Given the description of an element on the screen output the (x, y) to click on. 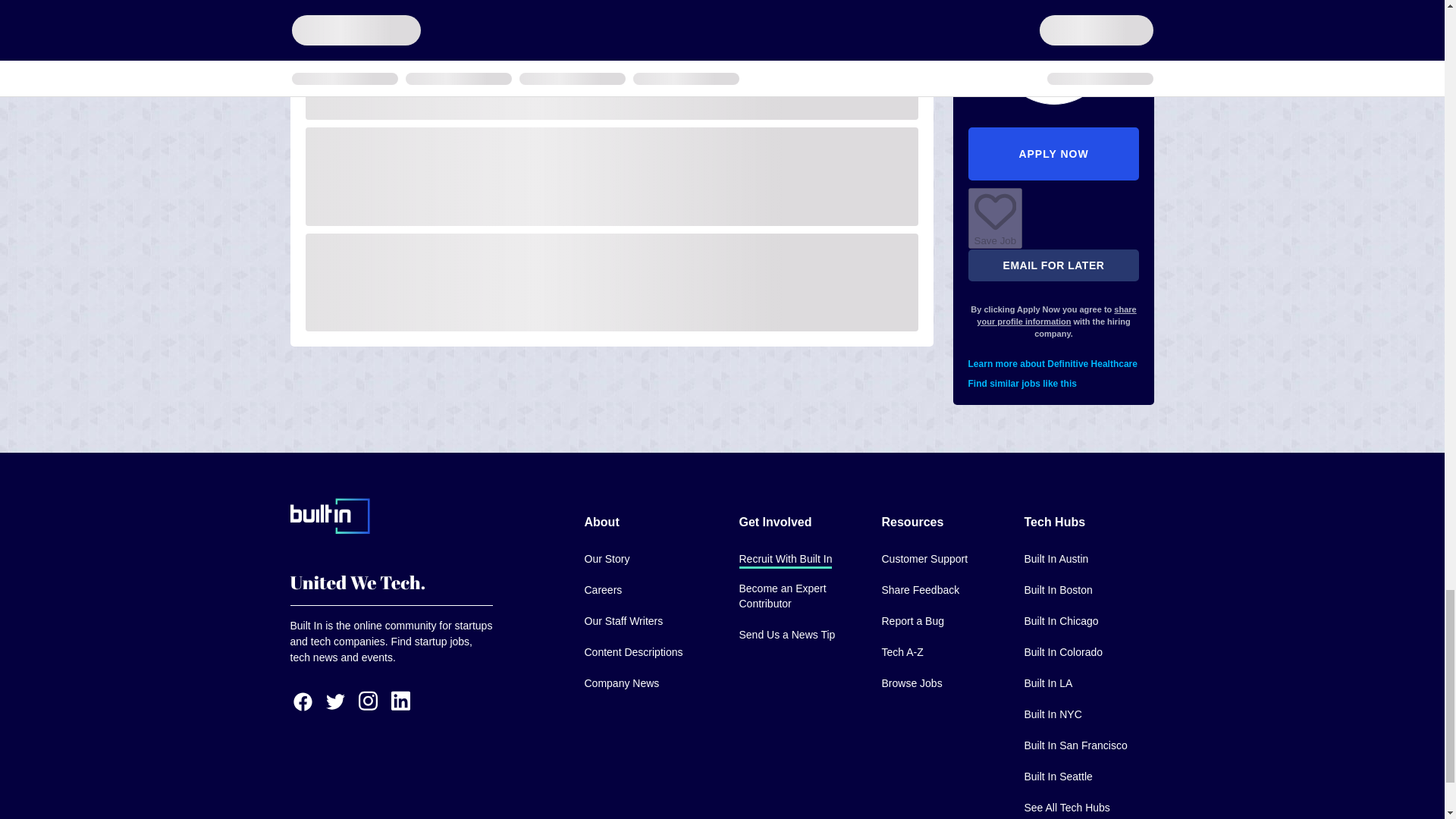
Browse Jobs (911, 683)
Send Us a News Tip (786, 635)
Company News (621, 683)
Customer Support (924, 559)
Tech A-Z (901, 652)
Our Story (605, 559)
Careers (602, 590)
Become an Expert Contributor (797, 596)
Report a Bug (911, 621)
Share Feedback (919, 590)
